Given the description of an element on the screen output the (x, y) to click on. 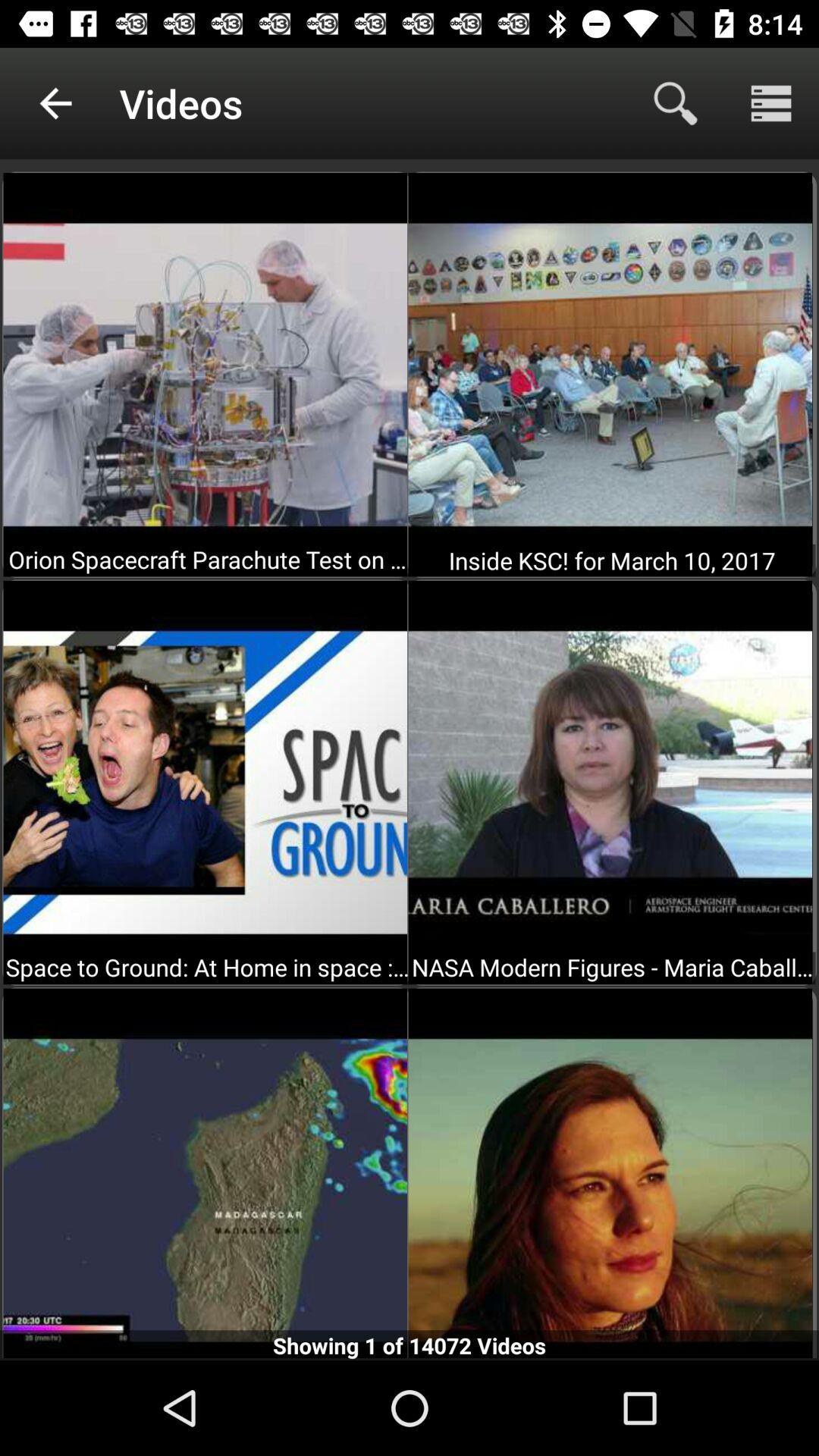
choose icon to the left of the videos item (55, 103)
